Given the description of an element on the screen output the (x, y) to click on. 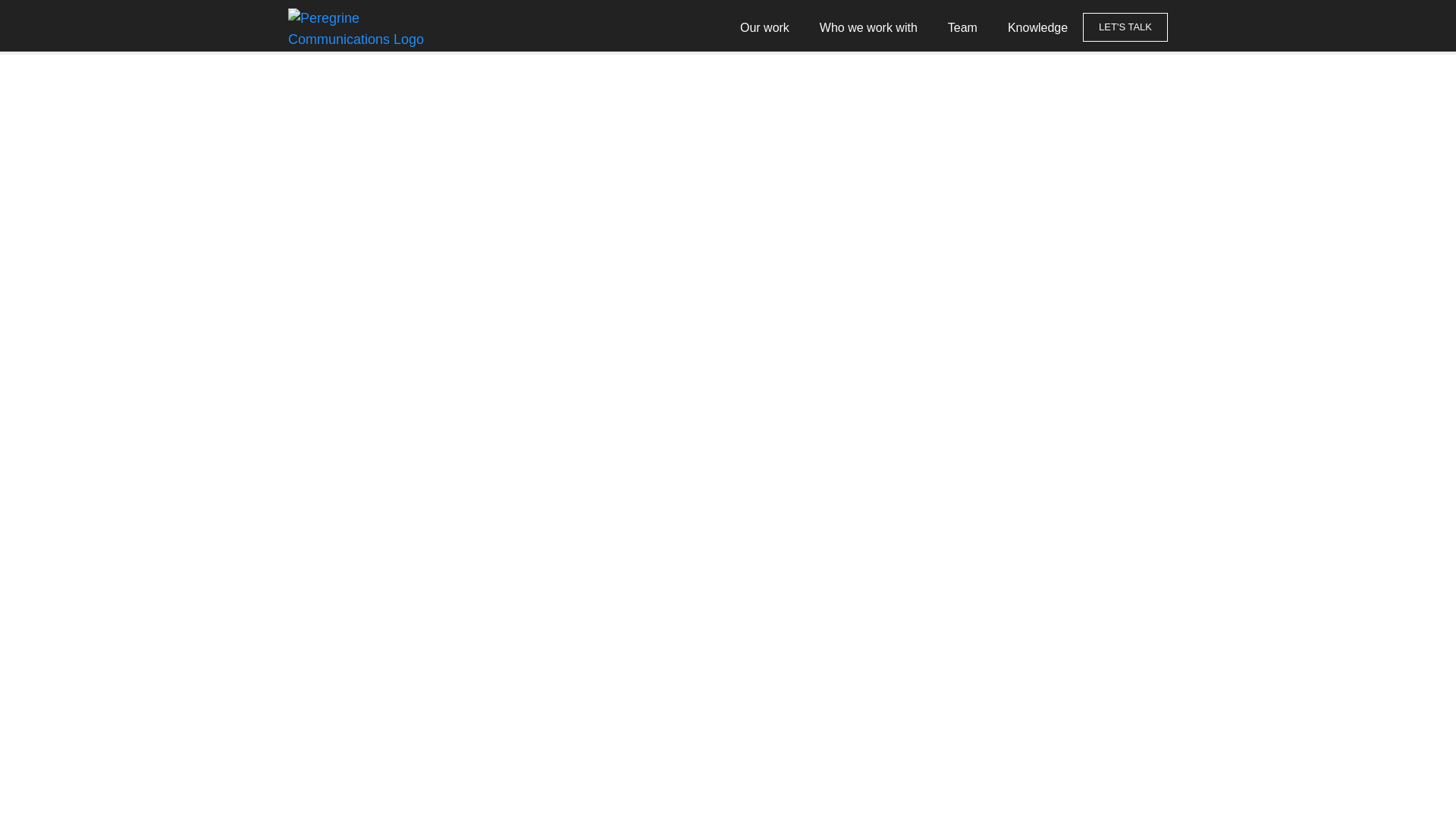
Who we work with (869, 27)
Team (962, 27)
Our work (765, 27)
Peregrine Communications (356, 29)
LET'S TALK (1125, 27)
Knowledge (1037, 27)
